Given the description of an element on the screen output the (x, y) to click on. 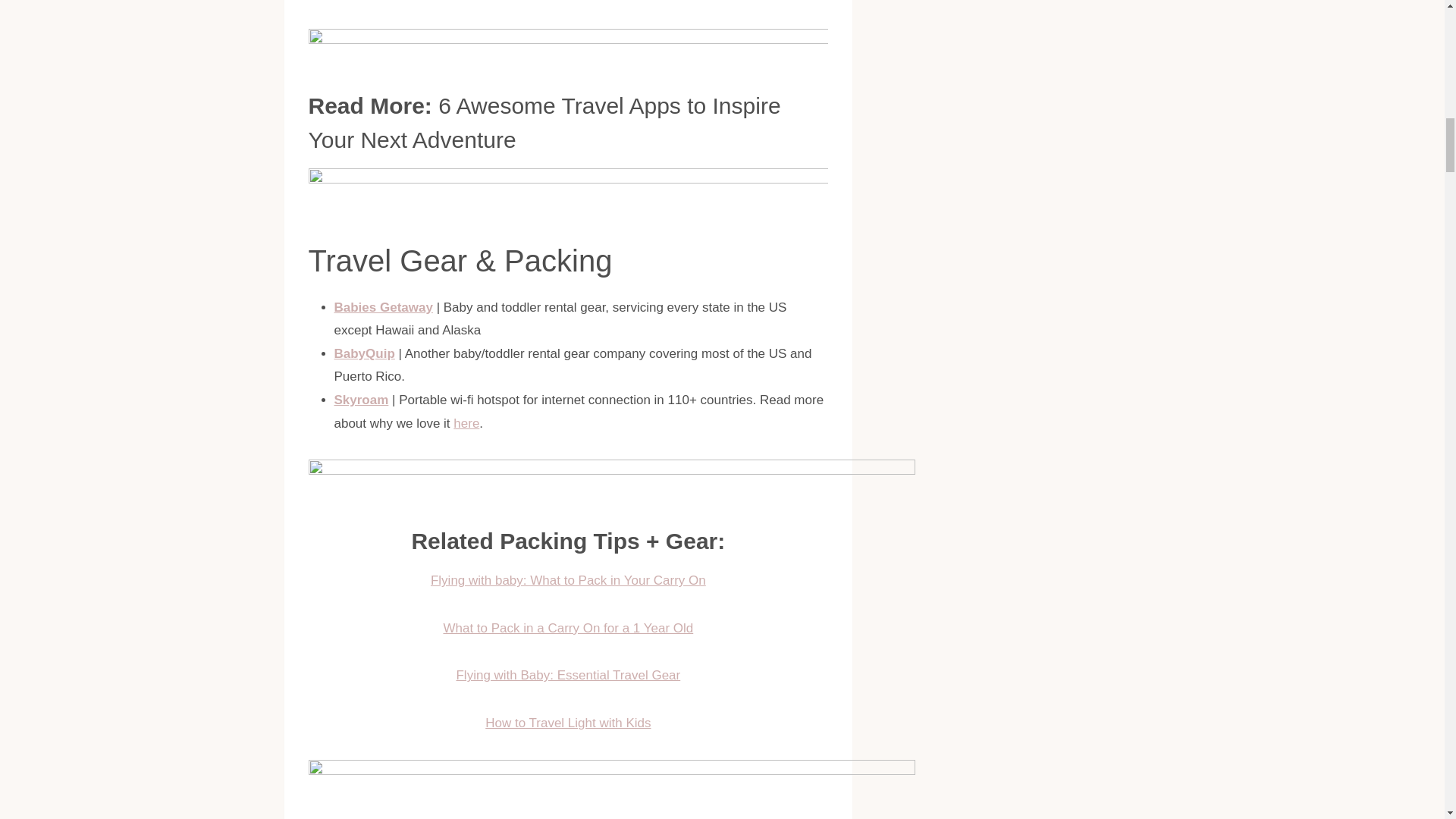
Flying with Baby: Essential Travel Gear (567, 675)
How to Travel Light with Kids (567, 722)
here (465, 423)
What to Pack in a Carry On for a 1 Year Old (567, 627)
BabyQuip (363, 353)
Skyroam (360, 400)
Babies Getaway (382, 307)
6 Awesome Travel Apps to Inspire Your Next Adventure (543, 122)
Flying with baby: What to Pack in Your Carry On (568, 580)
